Given the description of an element on the screen output the (x, y) to click on. 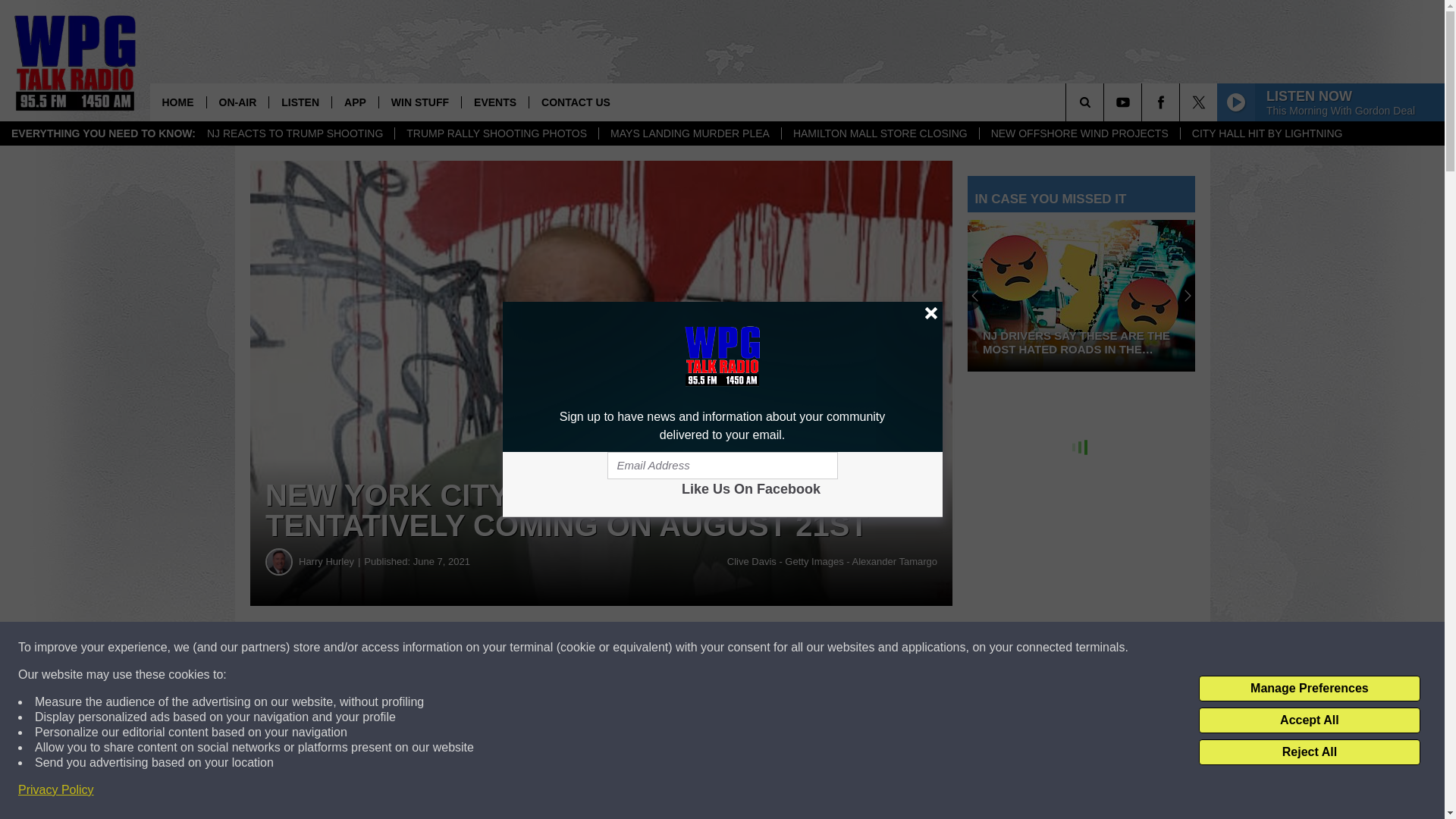
Privacy Policy (55, 789)
Email Address (722, 465)
SEARCH (1106, 102)
SEARCH (1106, 102)
EVENTS (494, 102)
ON-AIR (237, 102)
TRUMP RALLY SHOOTING PHOTOS (496, 133)
HOME (177, 102)
CITY HALL HIT BY LIGHTNING (1266, 133)
NJ REACTS TO TRUMP SHOOTING (294, 133)
MAYS LANDING MURDER PLEA (689, 133)
LISTEN (299, 102)
Manage Preferences (1309, 688)
Share on Facebook (460, 647)
Reject All (1309, 751)
